Given the description of an element on the screen output the (x, y) to click on. 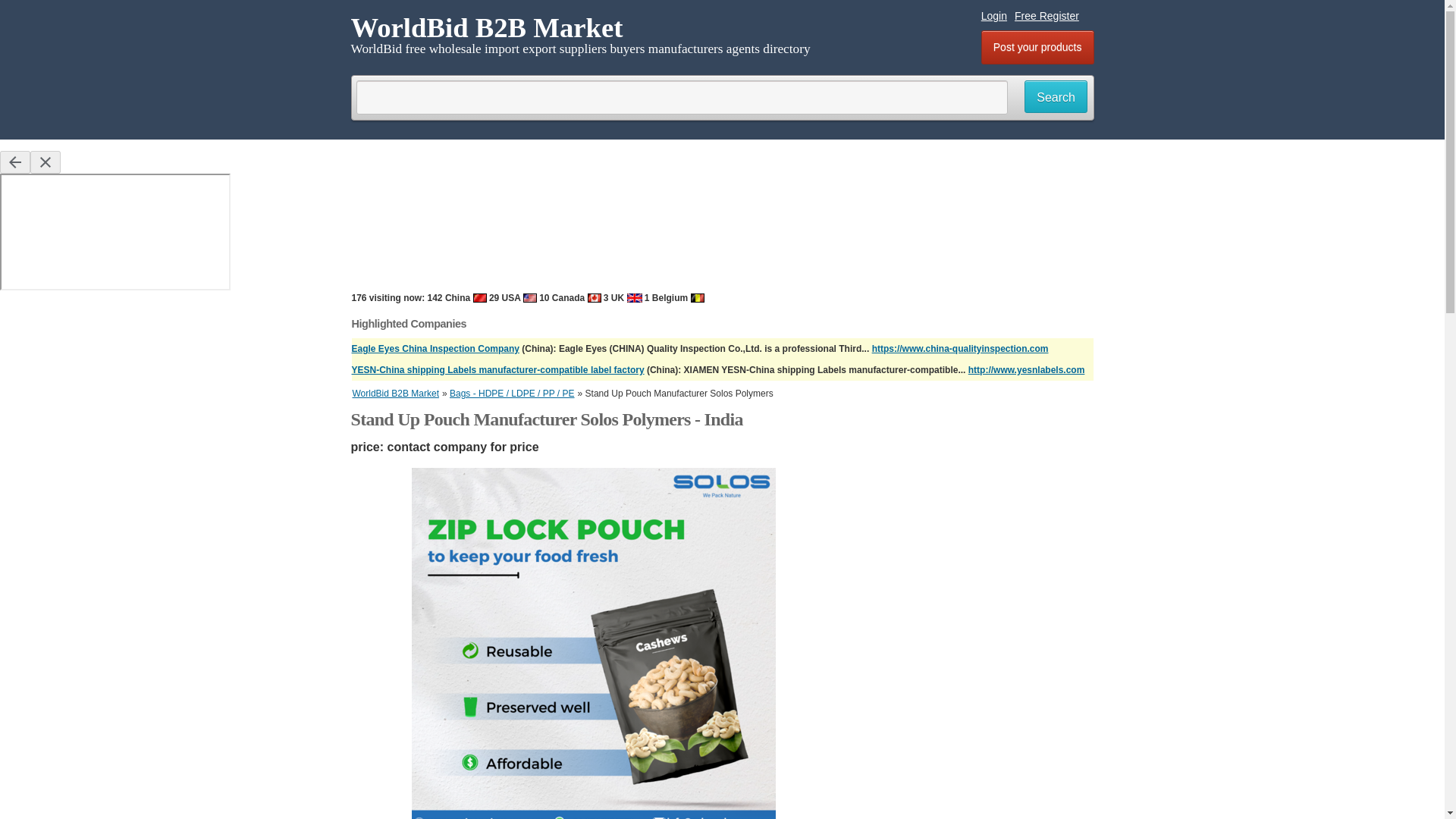
Eagle Eyes China Inspection Company (435, 348)
Free Register (1046, 15)
Login (994, 15)
WorldBid B2B Market (395, 393)
Post your products (1037, 47)
Search (1056, 96)
WorldBid B2B Market (486, 27)
